Given the description of an element on the screen output the (x, y) to click on. 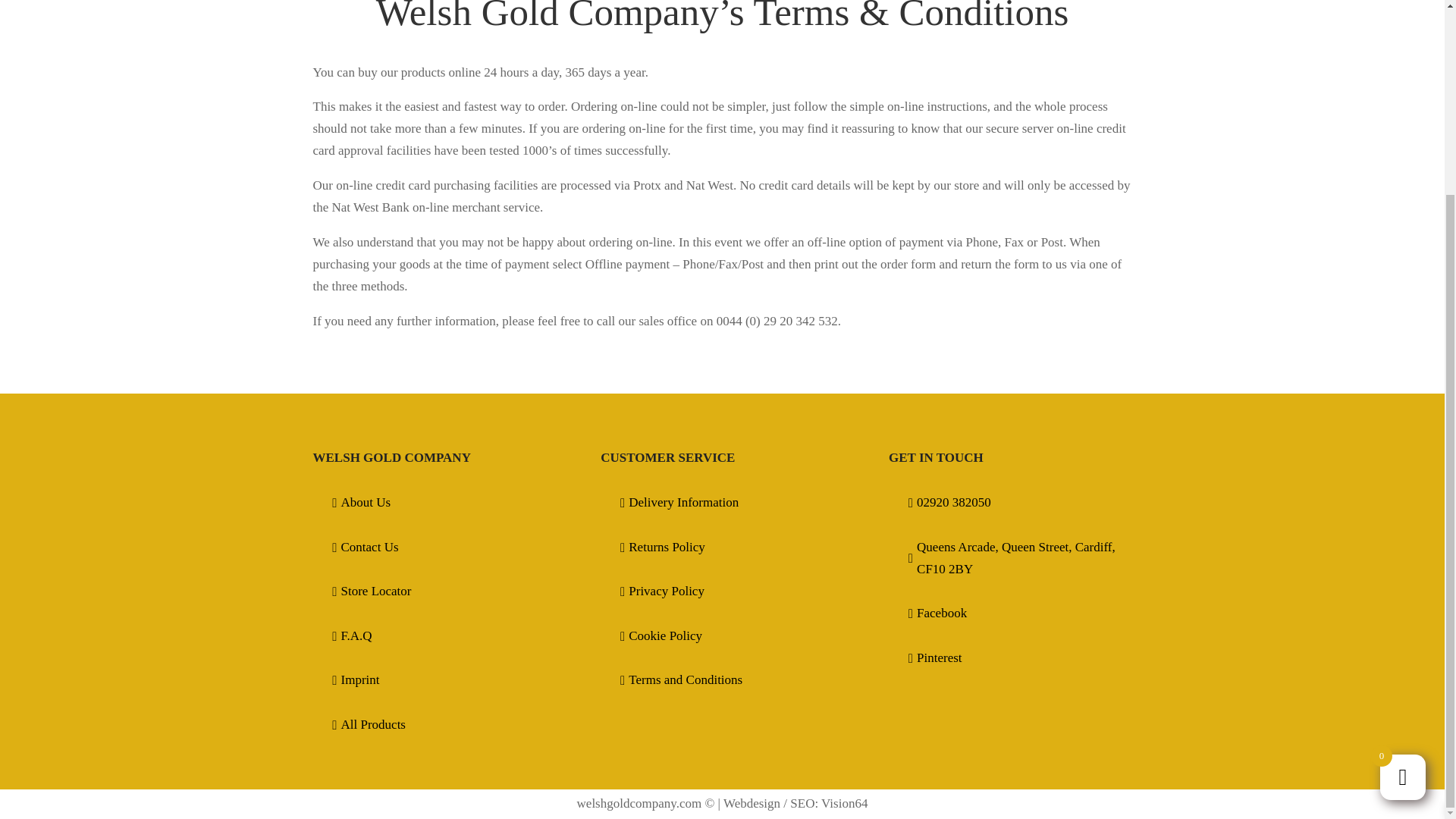
Vision64 (844, 803)
